Given the description of an element on the screen output the (x, y) to click on. 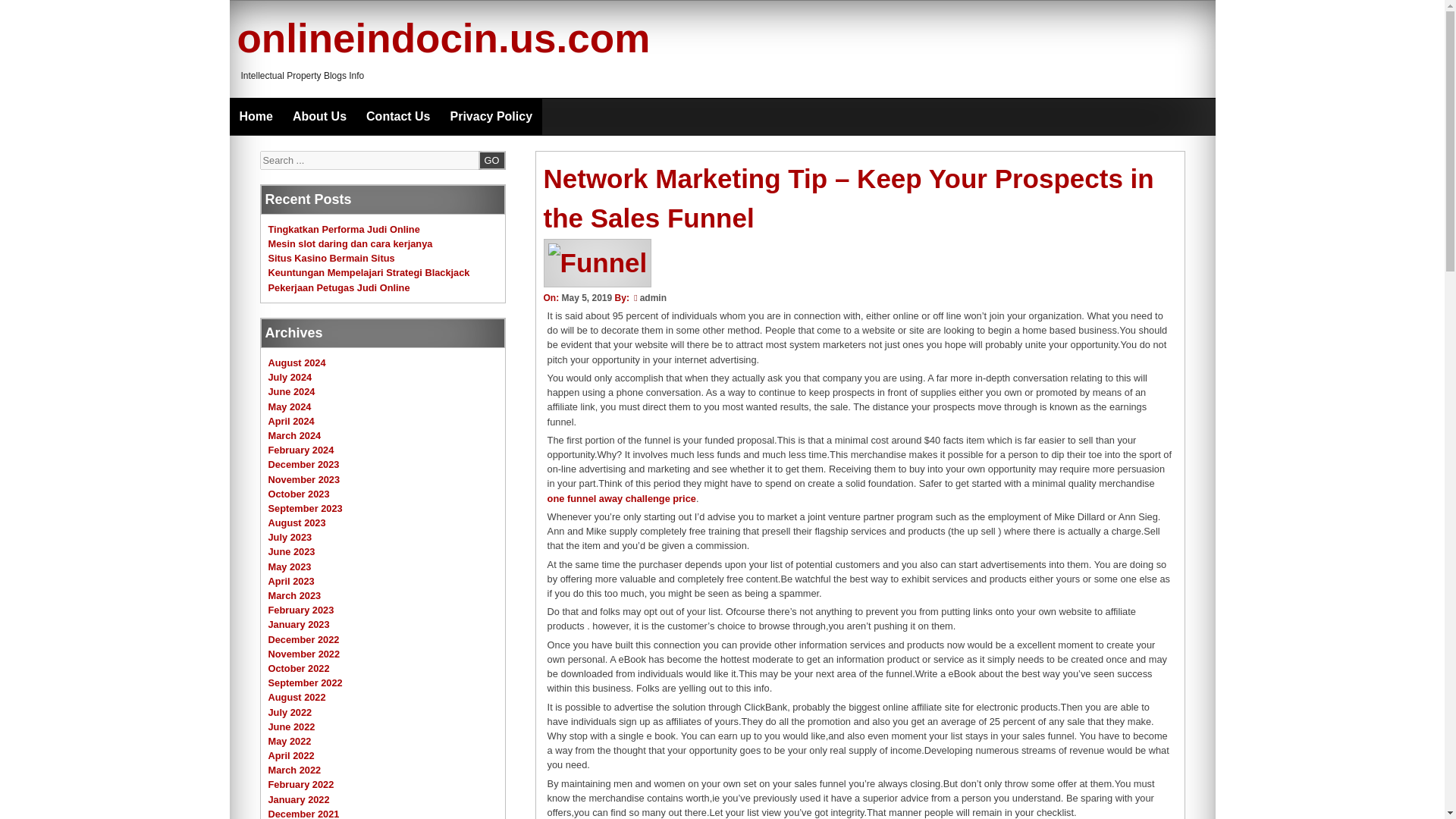
July 2024 (290, 377)
About Us (319, 116)
March 2024 (294, 435)
Tingkatkan Performa Judi Online (343, 229)
Situs Kasino Bermain Situs (330, 257)
GO (492, 158)
February 2024 (300, 449)
May 5, 2019 (585, 297)
Mesin slot daring dan cara kerjanya (349, 243)
December 2023 (303, 464)
